Given the description of an element on the screen output the (x, y) to click on. 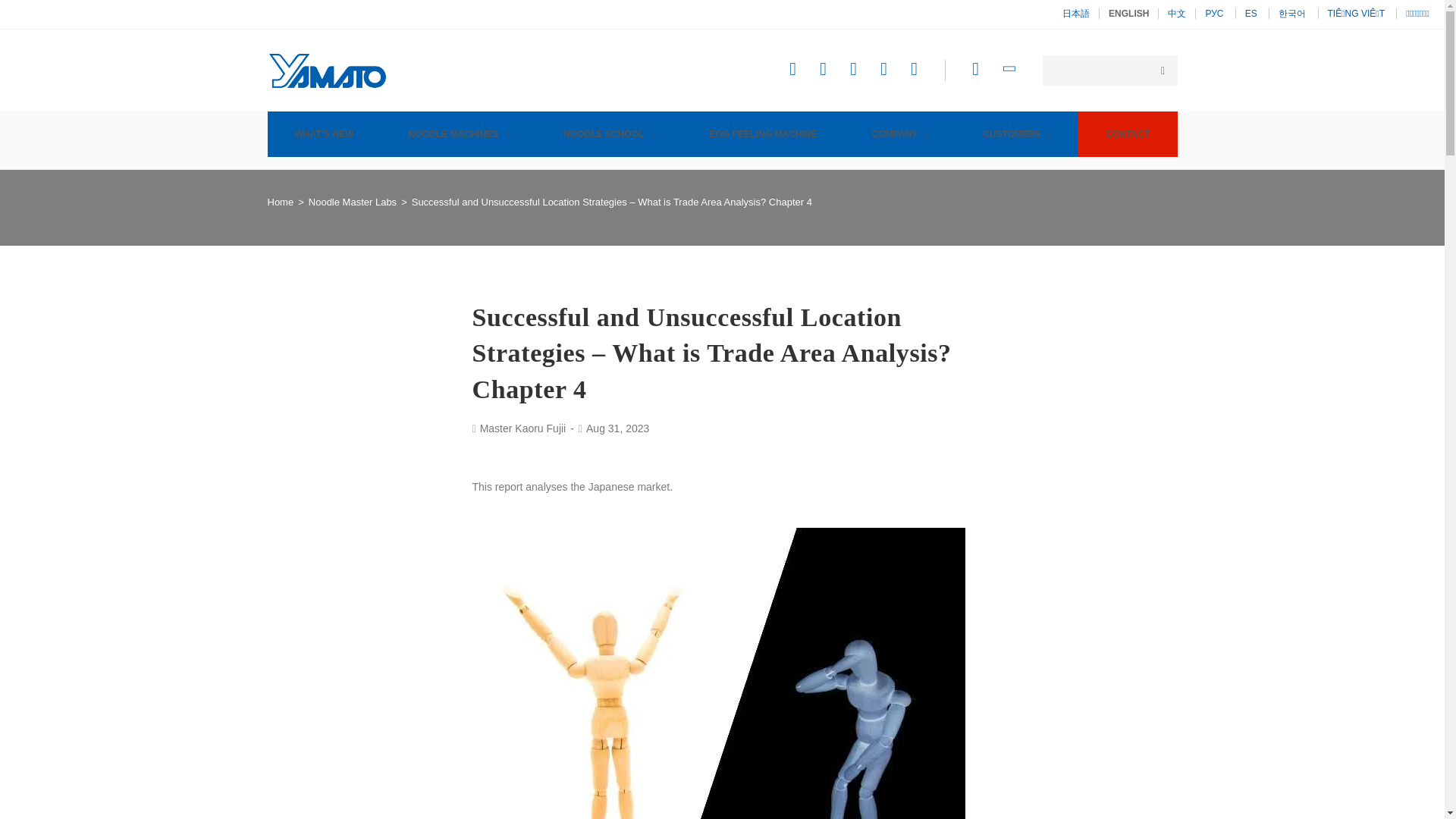
ENGLISH (1128, 13)
NOODLE MACHINES (459, 134)
ES (1250, 13)
